Given the description of an element on the screen output the (x, y) to click on. 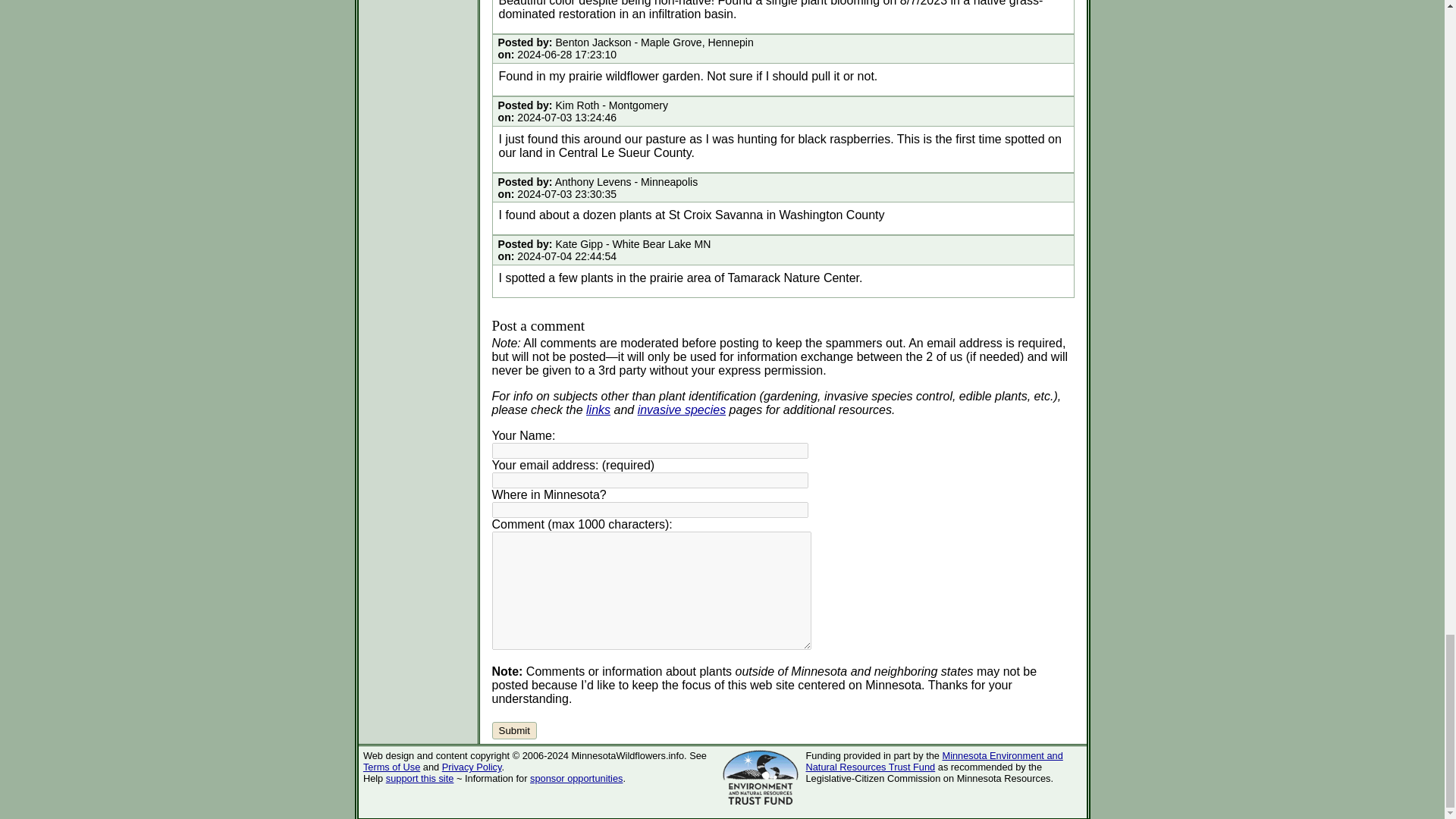
Submit (513, 730)
Submit (513, 730)
links (598, 409)
invasive species (681, 409)
